Given the description of an element on the screen output the (x, y) to click on. 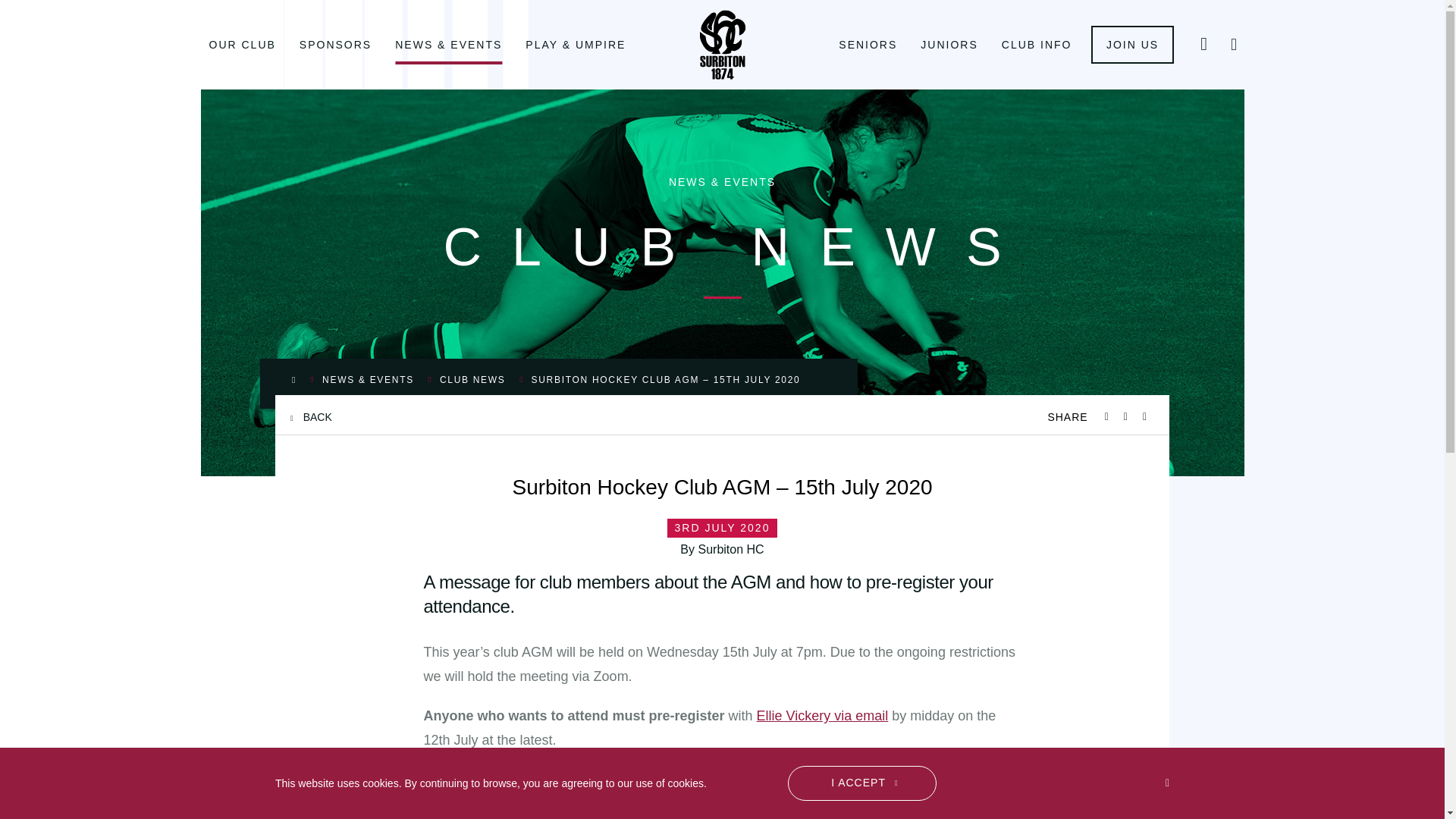
I ACCEPT (861, 782)
SPONSORS (334, 44)
OUR CLUB (241, 44)
